Given the description of an element on the screen output the (x, y) to click on. 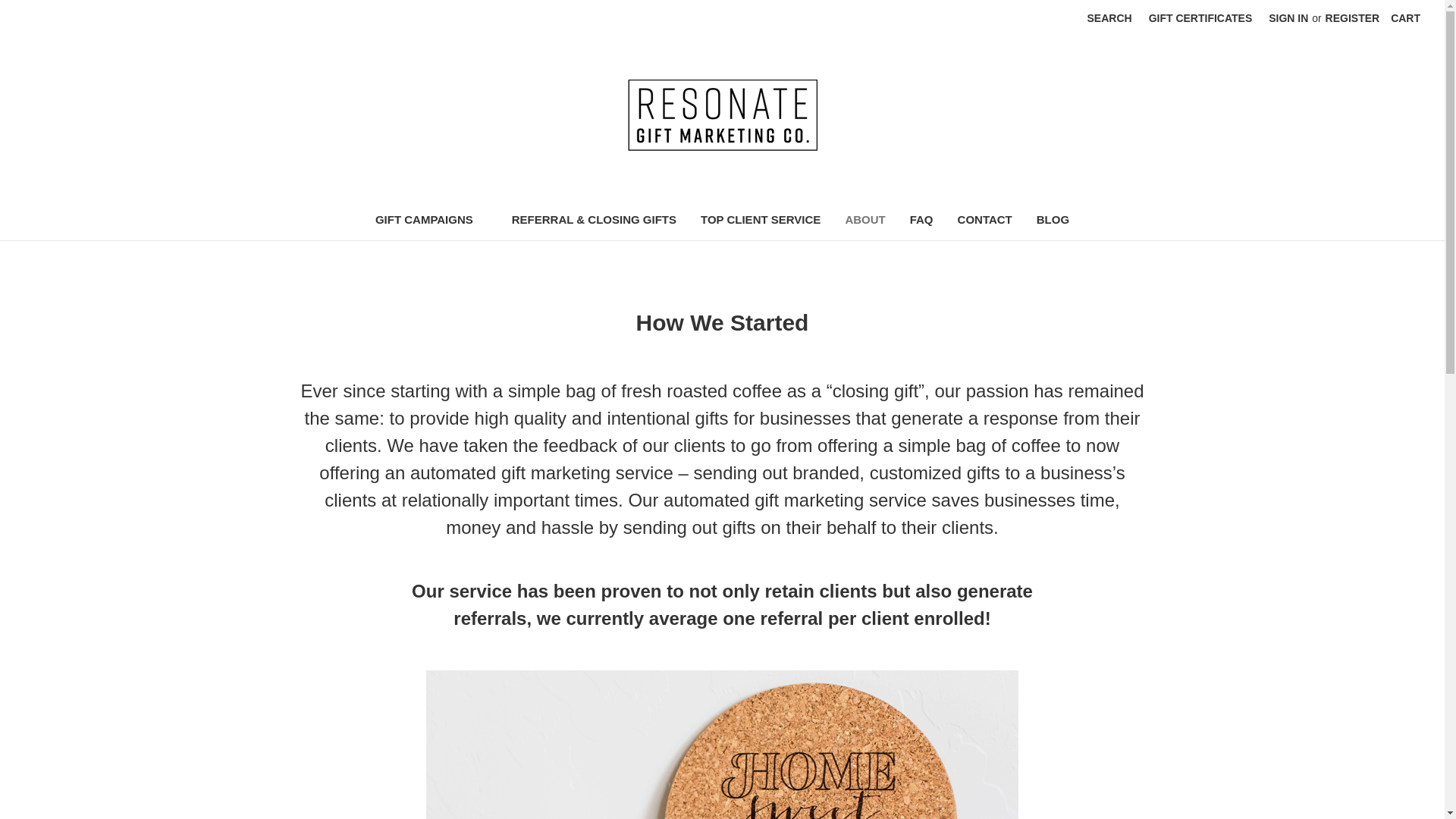
REGISTER (1353, 18)
FAQ (921, 221)
CONTACT (984, 221)
SIGN IN (1288, 18)
BLOG (1053, 221)
TOP CLIENT SERVICE (760, 221)
ABOUT (864, 221)
SEARCH (1109, 18)
GIFT CERTIFICATES (1200, 18)
Resonate Gifts (721, 114)
